Given the description of an element on the screen output the (x, y) to click on. 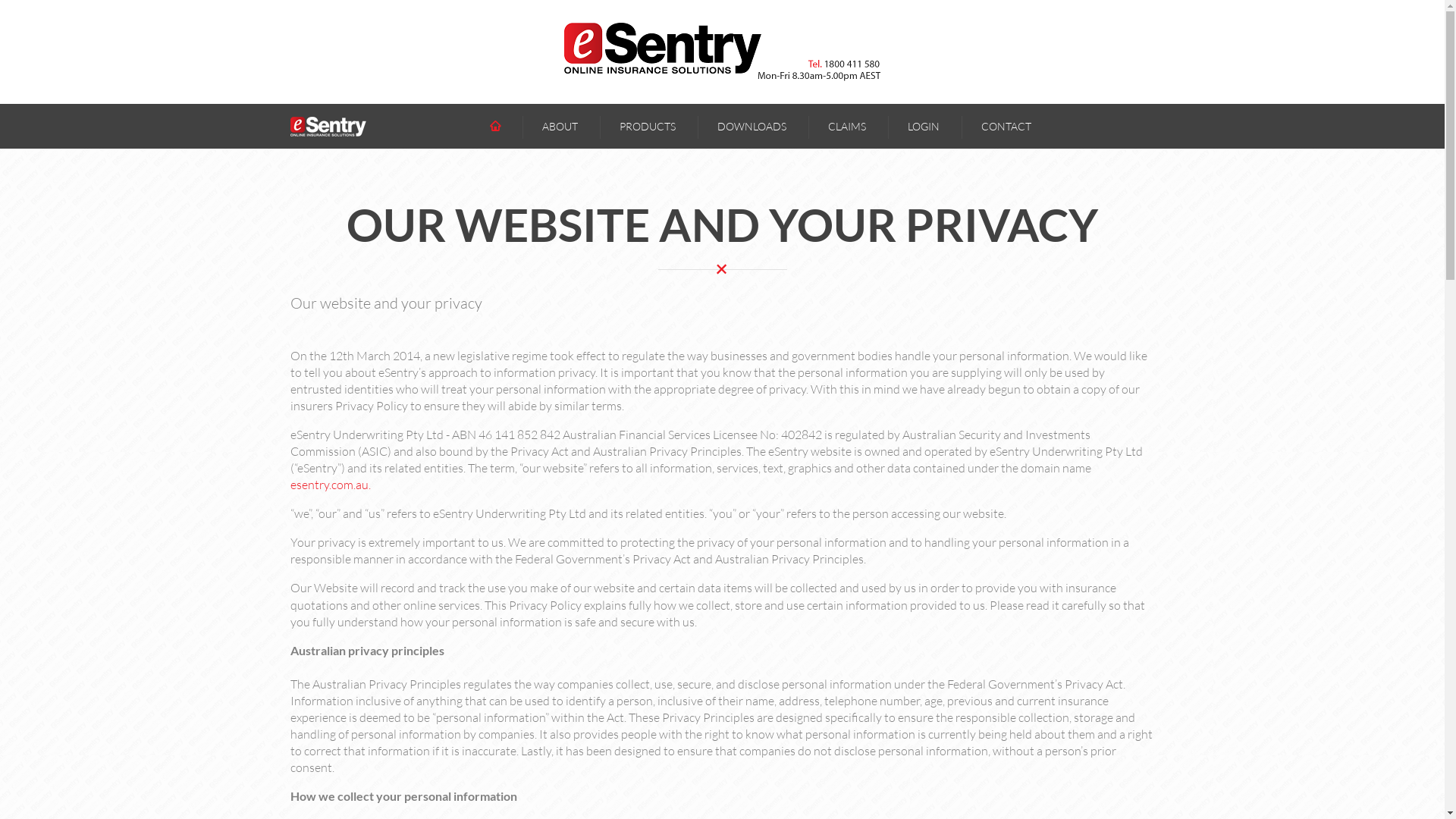
esentry.com.au. Element type: text (329, 484)
ABOUT Element type: text (559, 125)
CONTACT Element type: text (1006, 125)
PRODUCTS Element type: text (646, 125)
DOWNLOADS Element type: text (751, 125)
CLAIMS Element type: text (847, 125)
LOGIN Element type: text (922, 125)
